Given the description of an element on the screen output the (x, y) to click on. 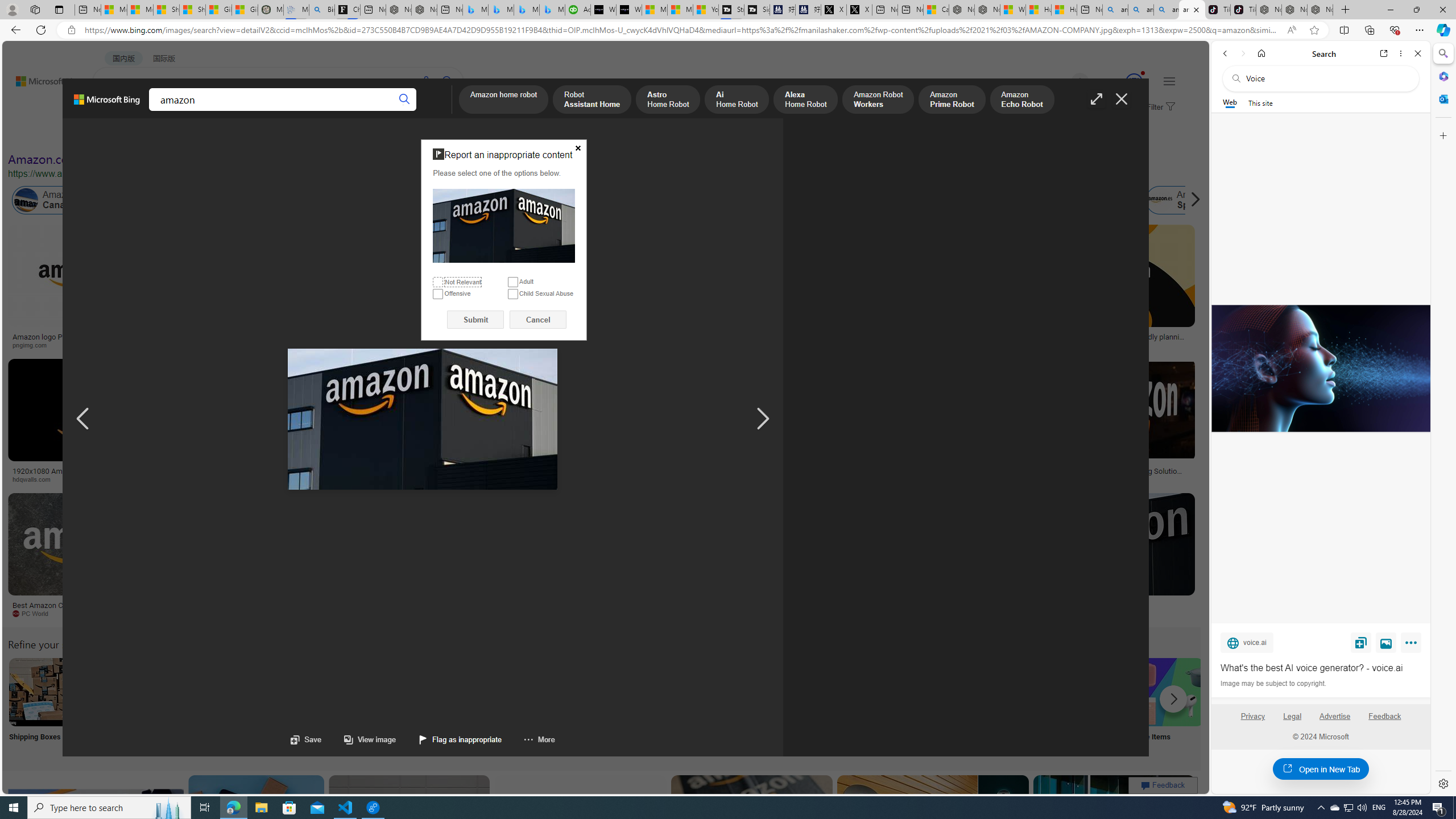
Log into My Account (268, 706)
Amazon Spain (1183, 199)
Amazon Animals (401, 200)
PC World (83, 613)
Amazon Sign in My Account (718, 691)
Amazon down? Current status and problems | Downdetector (937, 340)
Type (212, 135)
Retail Store (493, 706)
Amazon Prime Robot (951, 100)
